Given the description of an element on the screen output the (x, y) to click on. 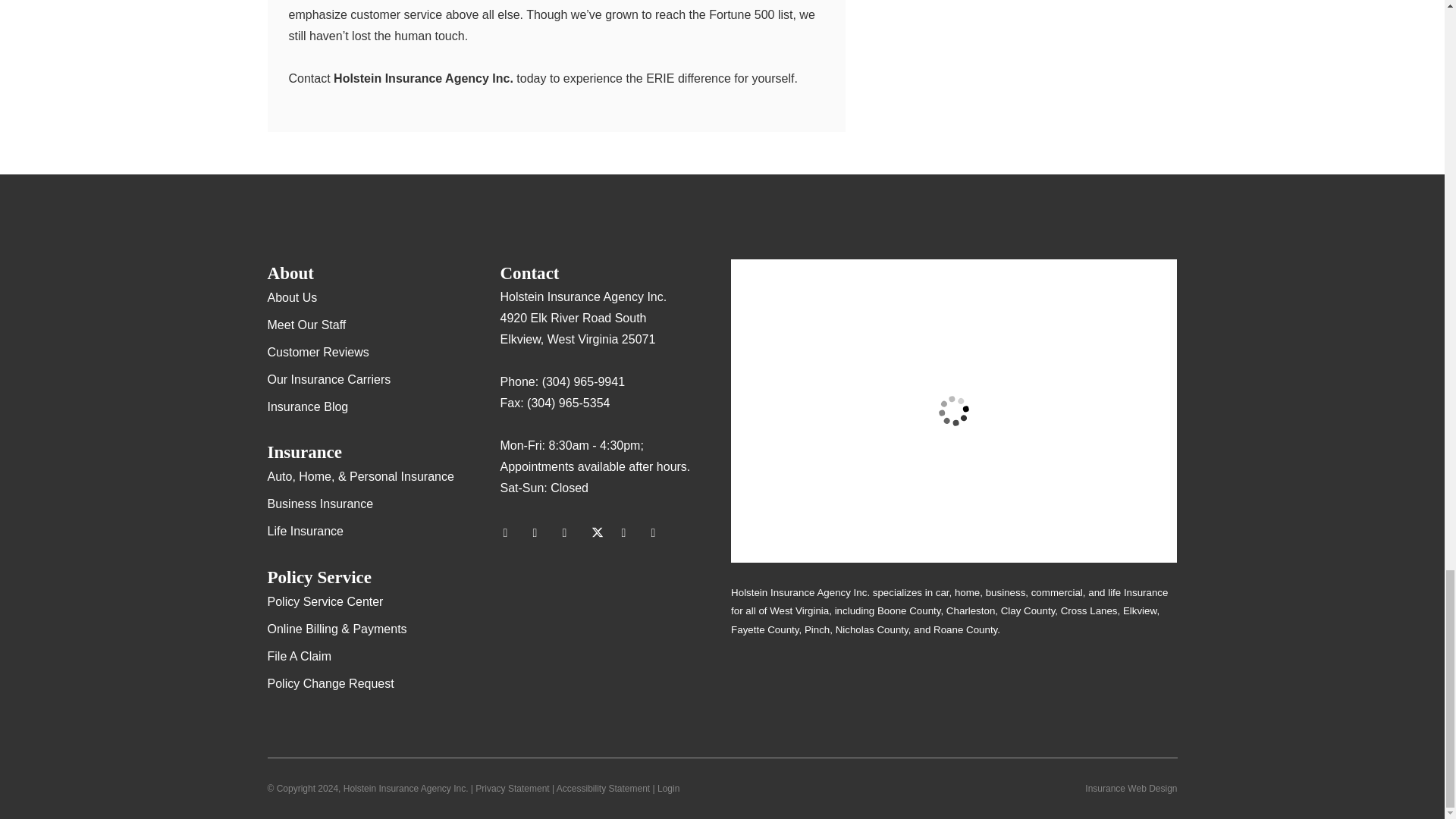
Yelp (541, 532)
LinkedIn (629, 532)
X (600, 532)
YouTube (659, 532)
Google Maps (511, 532)
Facebook (571, 532)
